Given the description of an element on the screen output the (x, y) to click on. 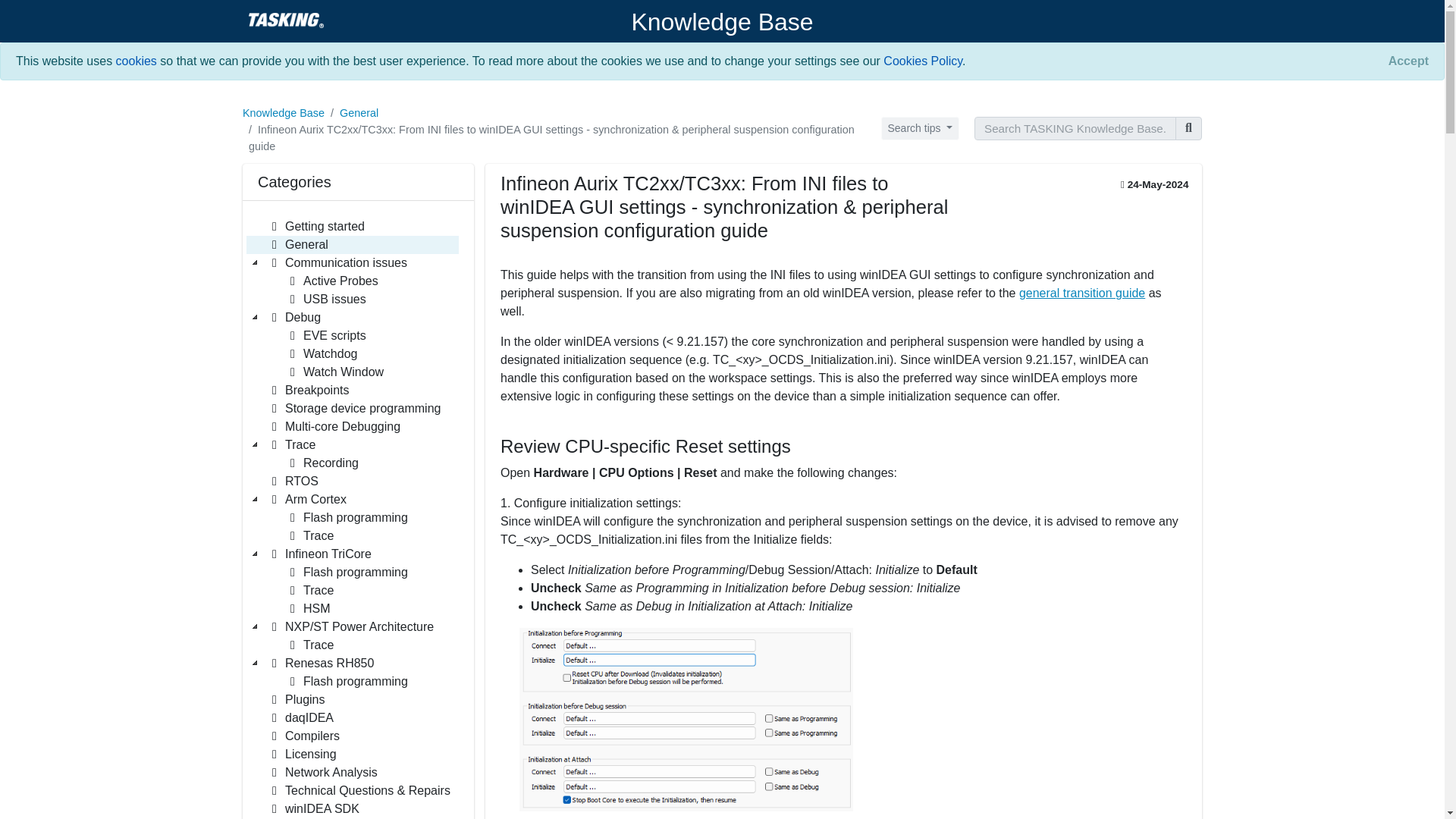
Active Probes (331, 280)
Active Probes (331, 280)
Search tips (919, 128)
HSM (307, 608)
Recording (321, 463)
Breakpoints (308, 390)
Arm Cortex (306, 499)
Trace (291, 444)
Trace (309, 536)
Watch Window (334, 372)
General (358, 112)
Storage device programming (354, 408)
General (297, 244)
Accept (1408, 61)
Communication issues (337, 262)
